Given the description of an element on the screen output the (x, y) to click on. 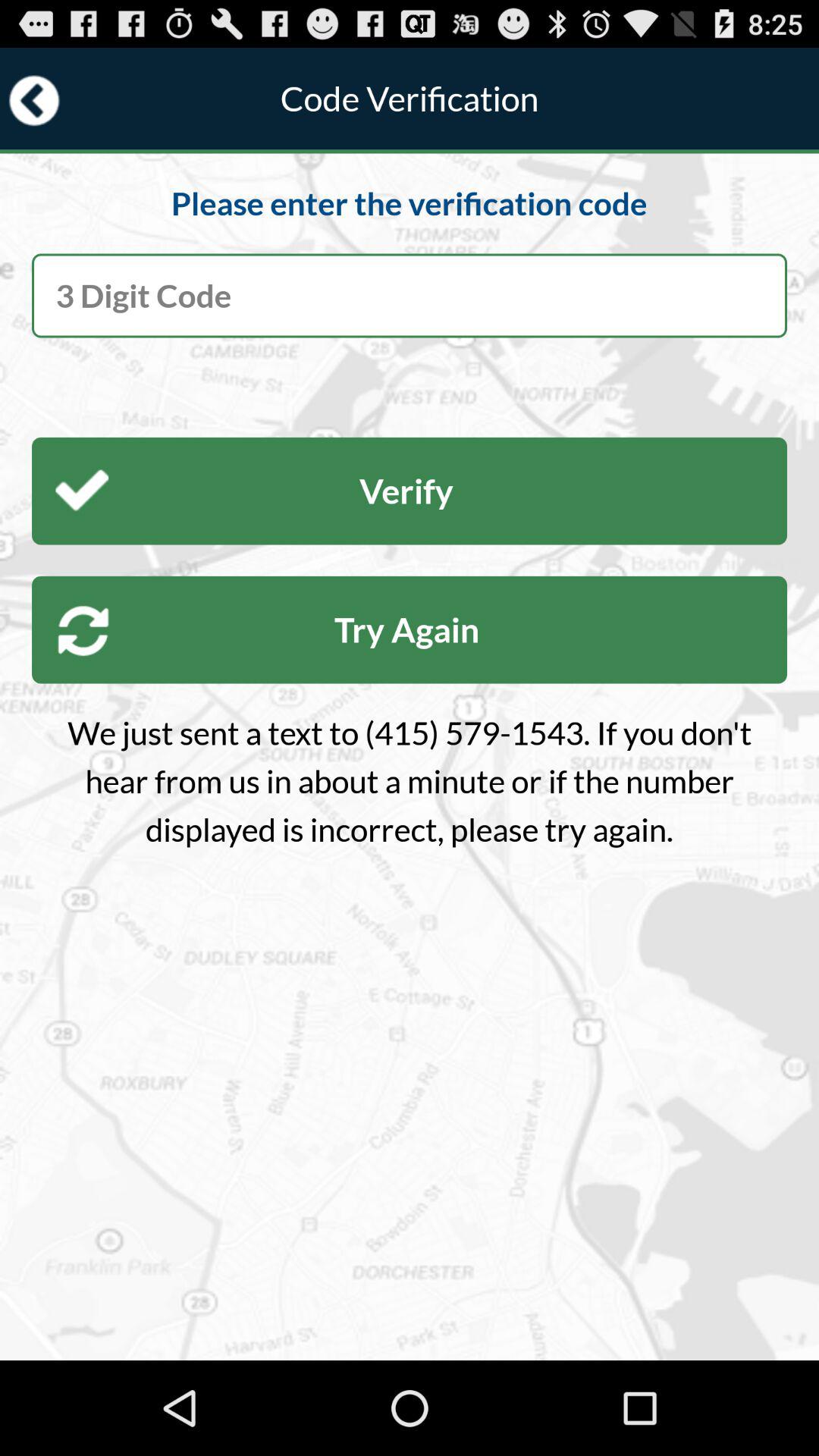
launch verify icon (409, 490)
